Given the description of an element on the screen output the (x, y) to click on. 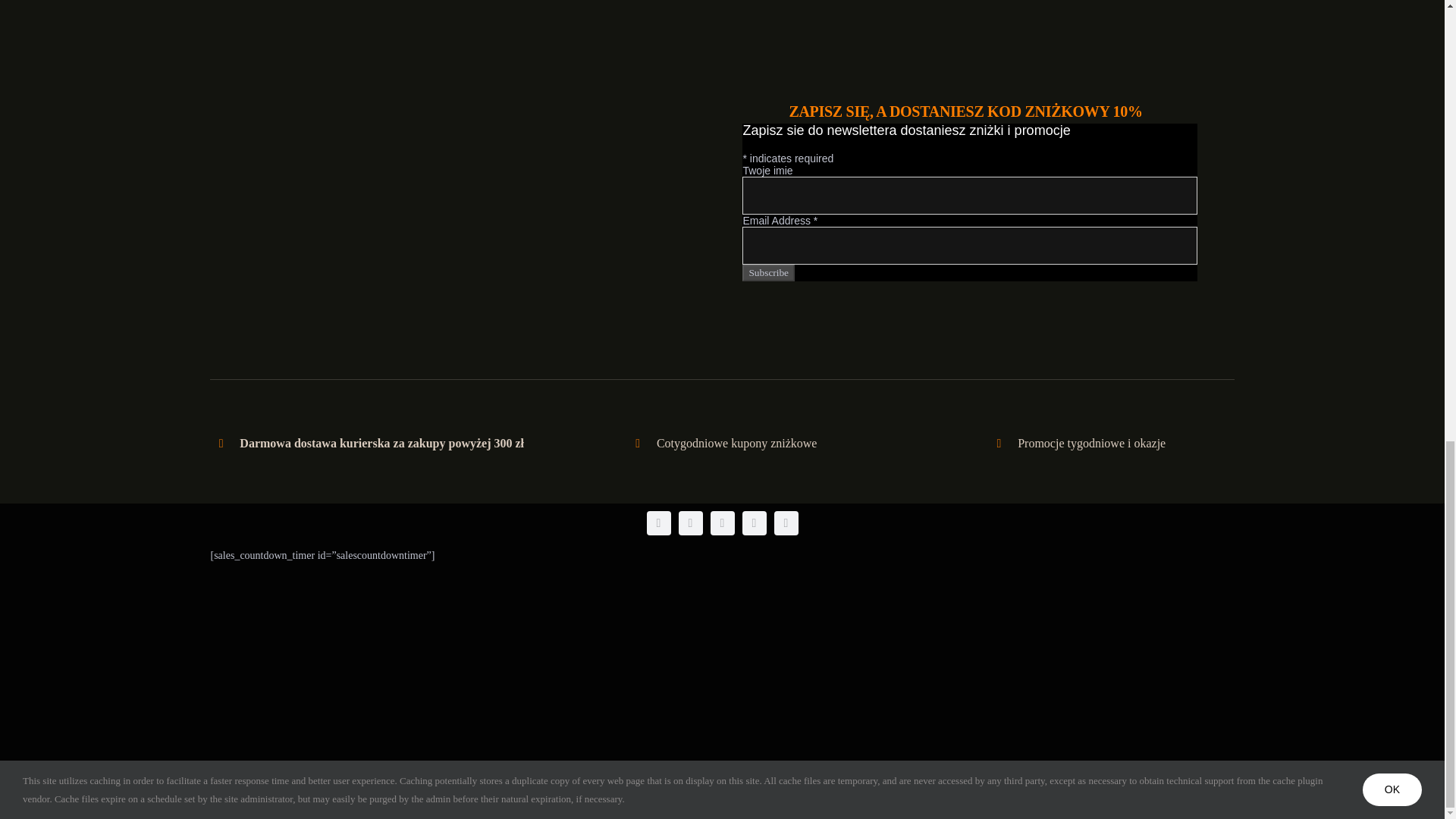
Subscribe (768, 272)
